Given the description of an element on the screen output the (x, y) to click on. 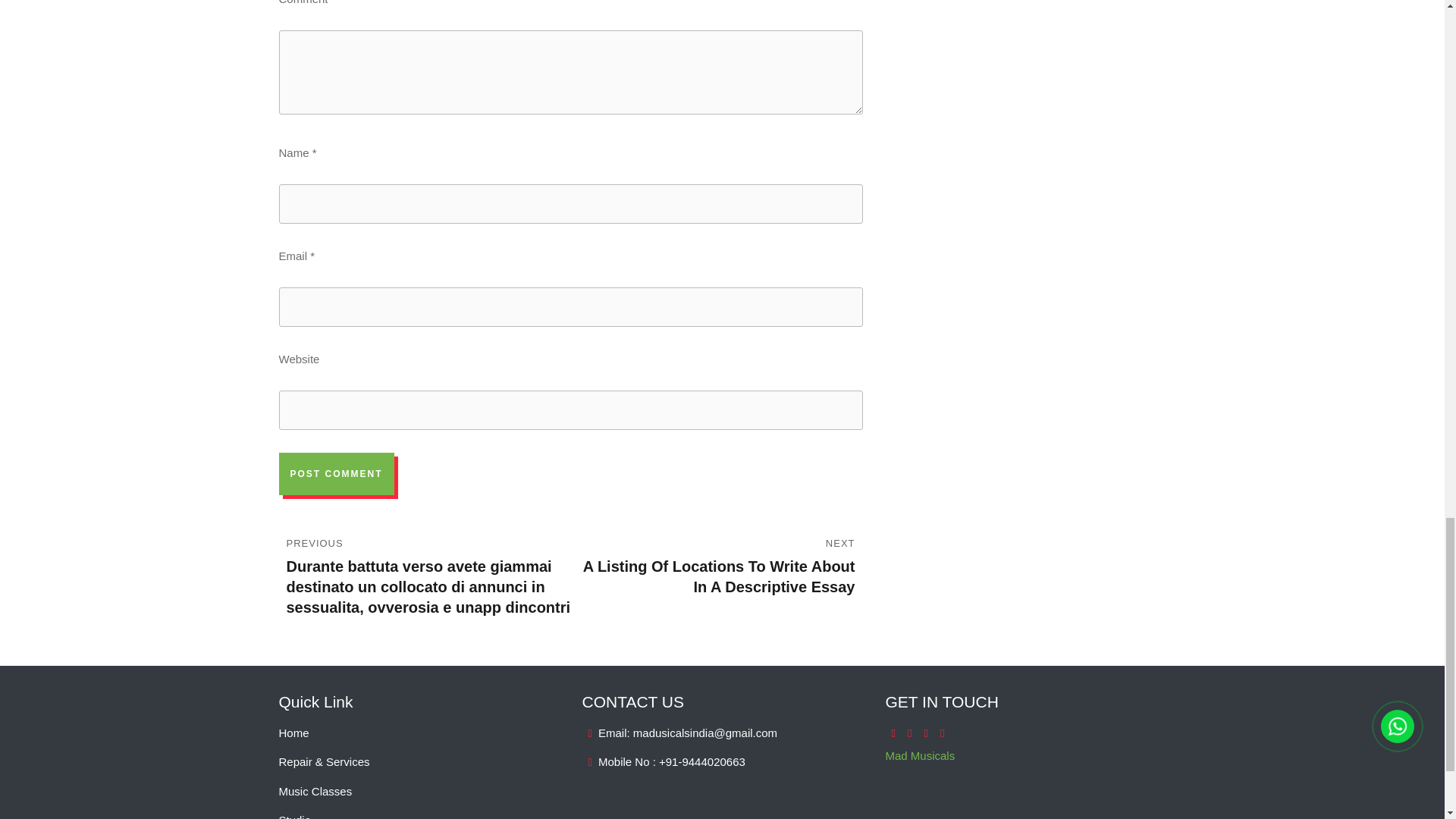
Post Comment (336, 473)
Post Comment (336, 473)
